Given the description of an element on the screen output the (x, y) to click on. 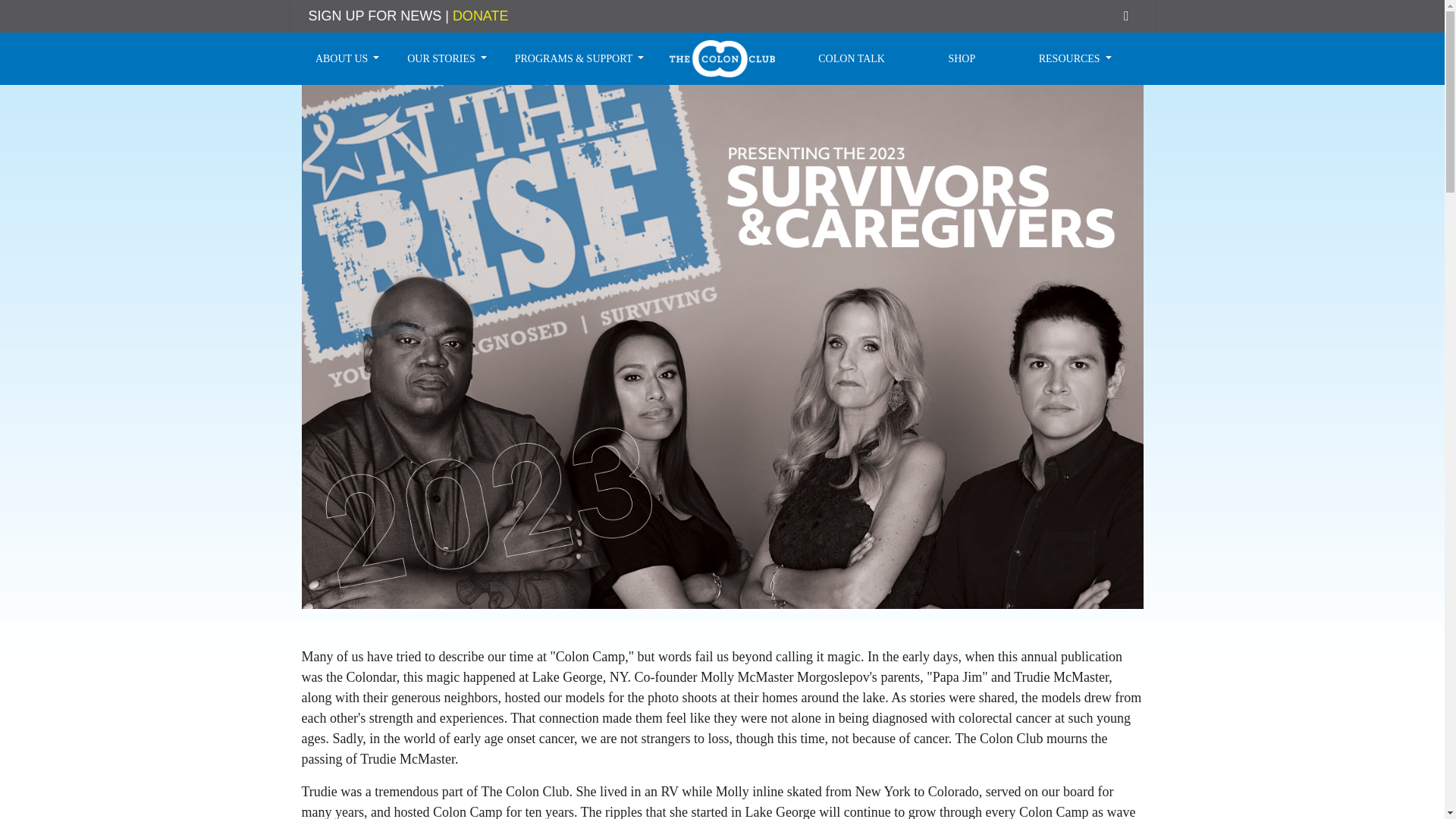
DONATE (480, 15)
SIGN UP FOR NEWS (374, 15)
RESOURCES (1075, 58)
COLON TALK (851, 58)
OUR STORIES (447, 58)
ABOUT US (346, 58)
